Given the description of an element on the screen output the (x, y) to click on. 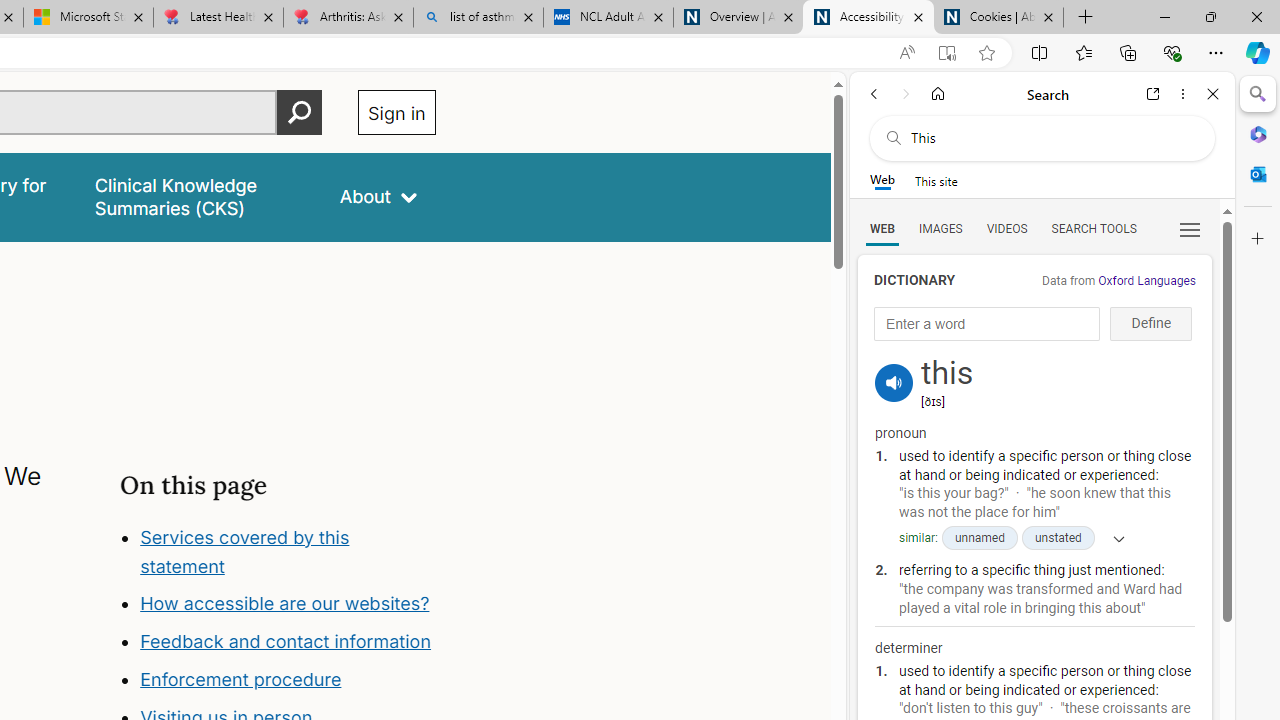
Feedback and contact information (285, 641)
Search the web (1051, 137)
SEARCH TOOLS (1093, 228)
Show more (1112, 538)
Preferences (1189, 228)
unstated (1057, 538)
Search Filter, Search Tools (1093, 228)
Feedback and contact information (287, 642)
Search Filter, VIDEOS (1006, 228)
Arthritis: Ask Health Professionals (348, 17)
